Given the description of an element on the screen output the (x, y) to click on. 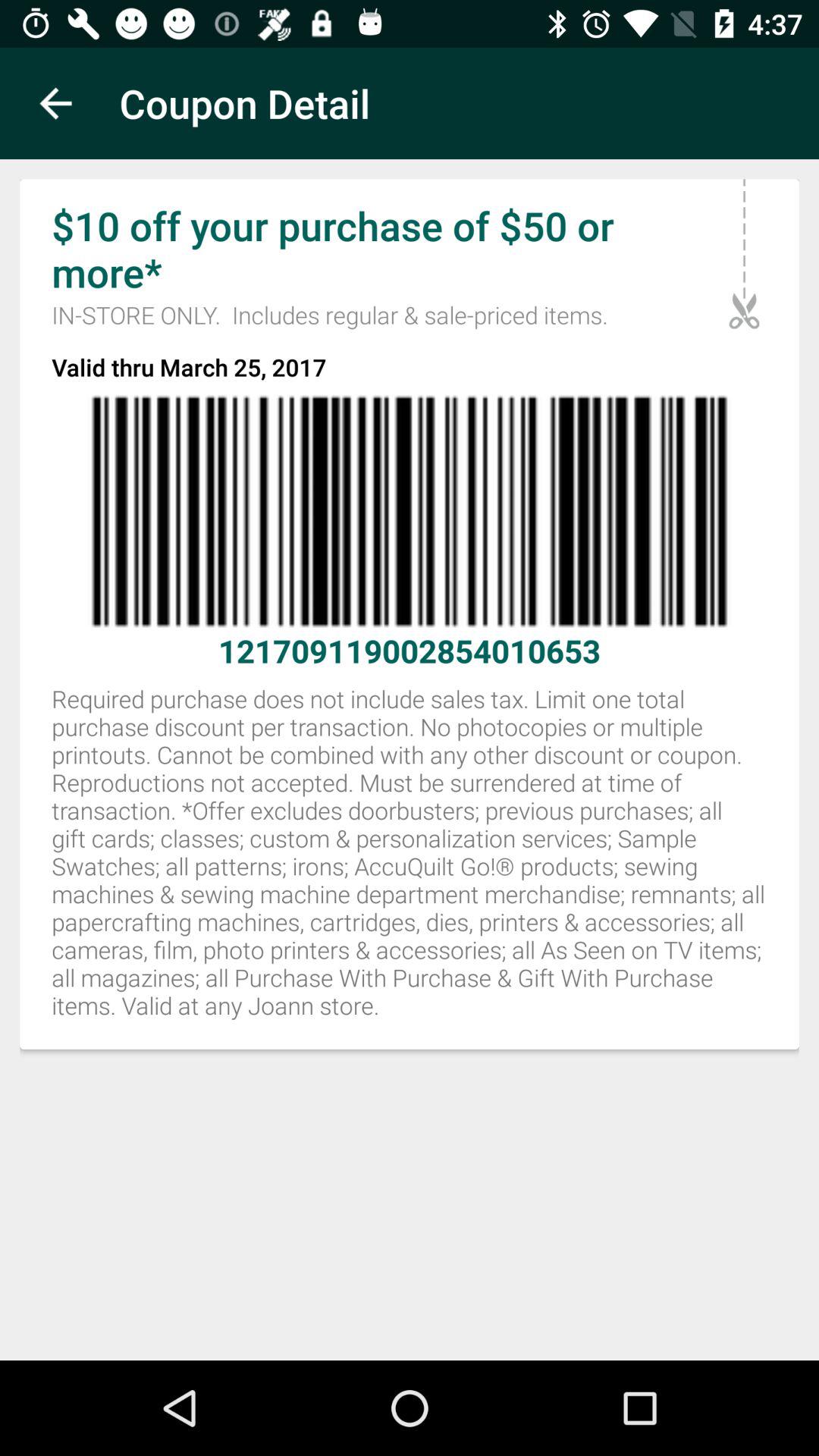
press required purchase does (409, 860)
